Given the description of an element on the screen output the (x, y) to click on. 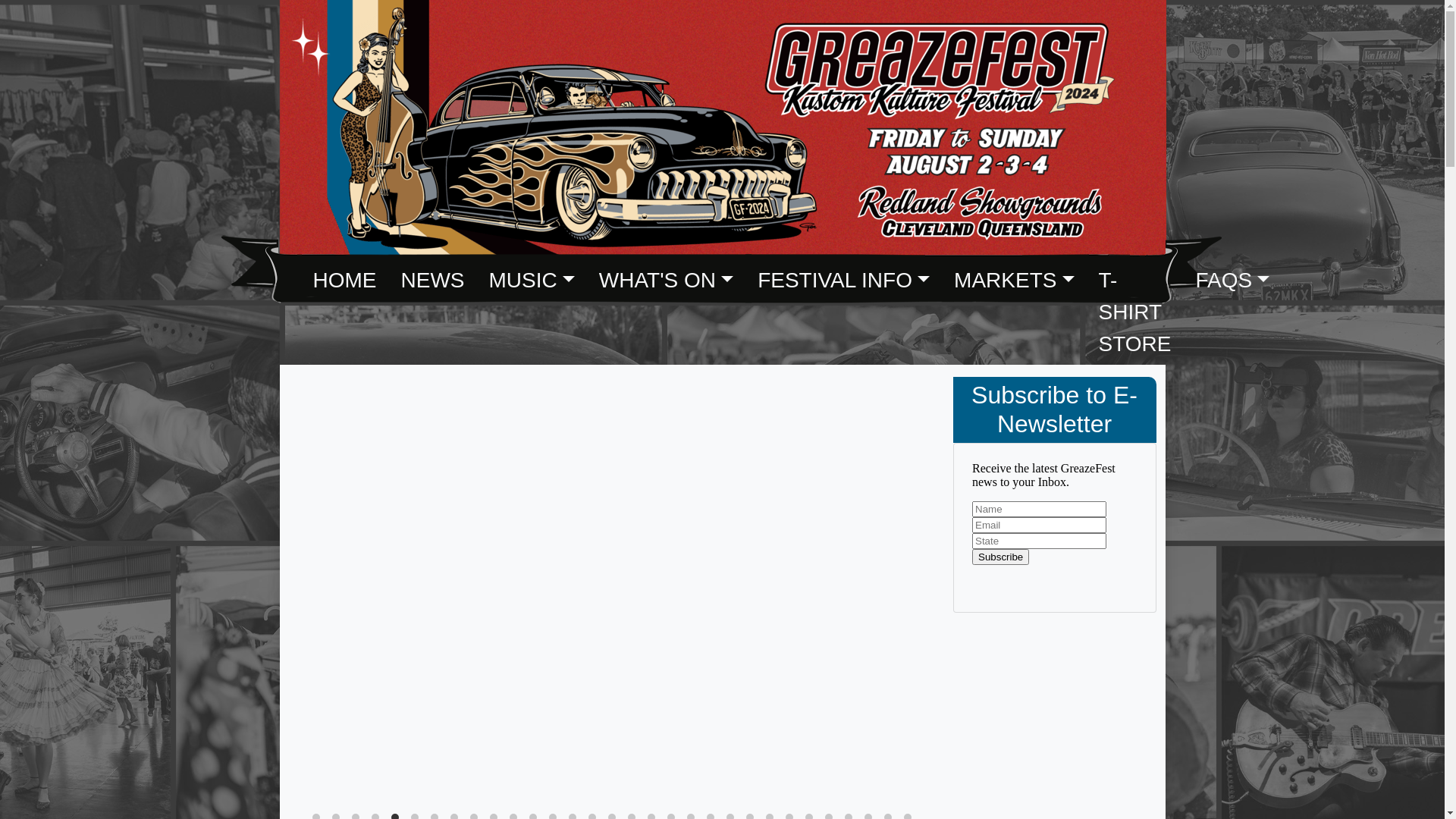
newsletter sign-up Element type: hover (1054, 527)
T-SHIRT STORE Element type: text (1134, 312)
FAQS Element type: text (1232, 280)
FESTIVAL INFO Element type: text (843, 280)
MUSIC Element type: text (531, 280)
NEWS Element type: text (432, 280)
WHAT'S ON Element type: text (665, 280)
MARKETS Element type: text (1013, 280)
HOME Element type: text (344, 280)
